Given the description of an element on the screen output the (x, y) to click on. 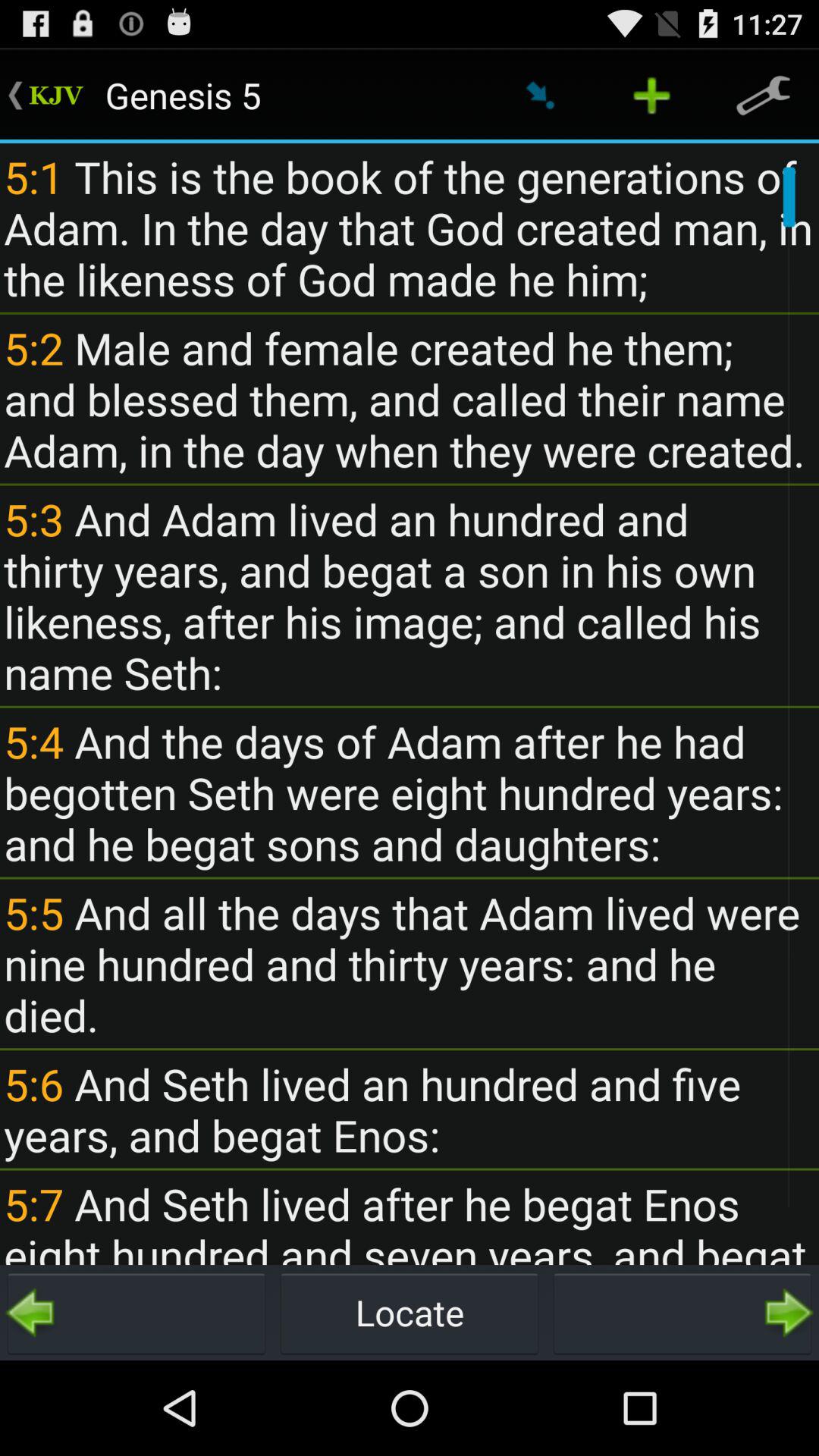
go to previous (136, 1312)
